Given the description of an element on the screen output the (x, y) to click on. 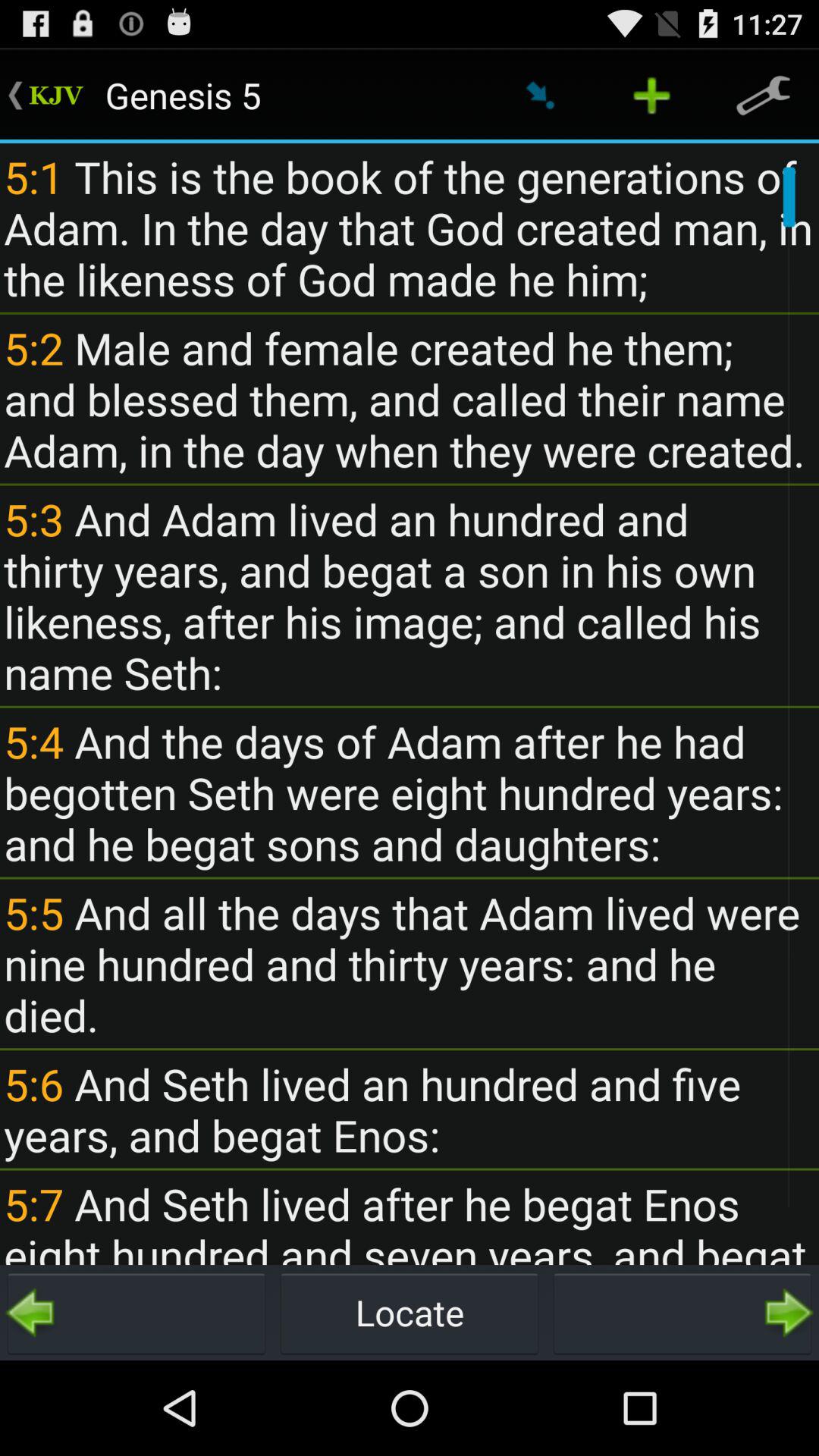
go to previous (136, 1312)
